Given the description of an element on the screen output the (x, y) to click on. 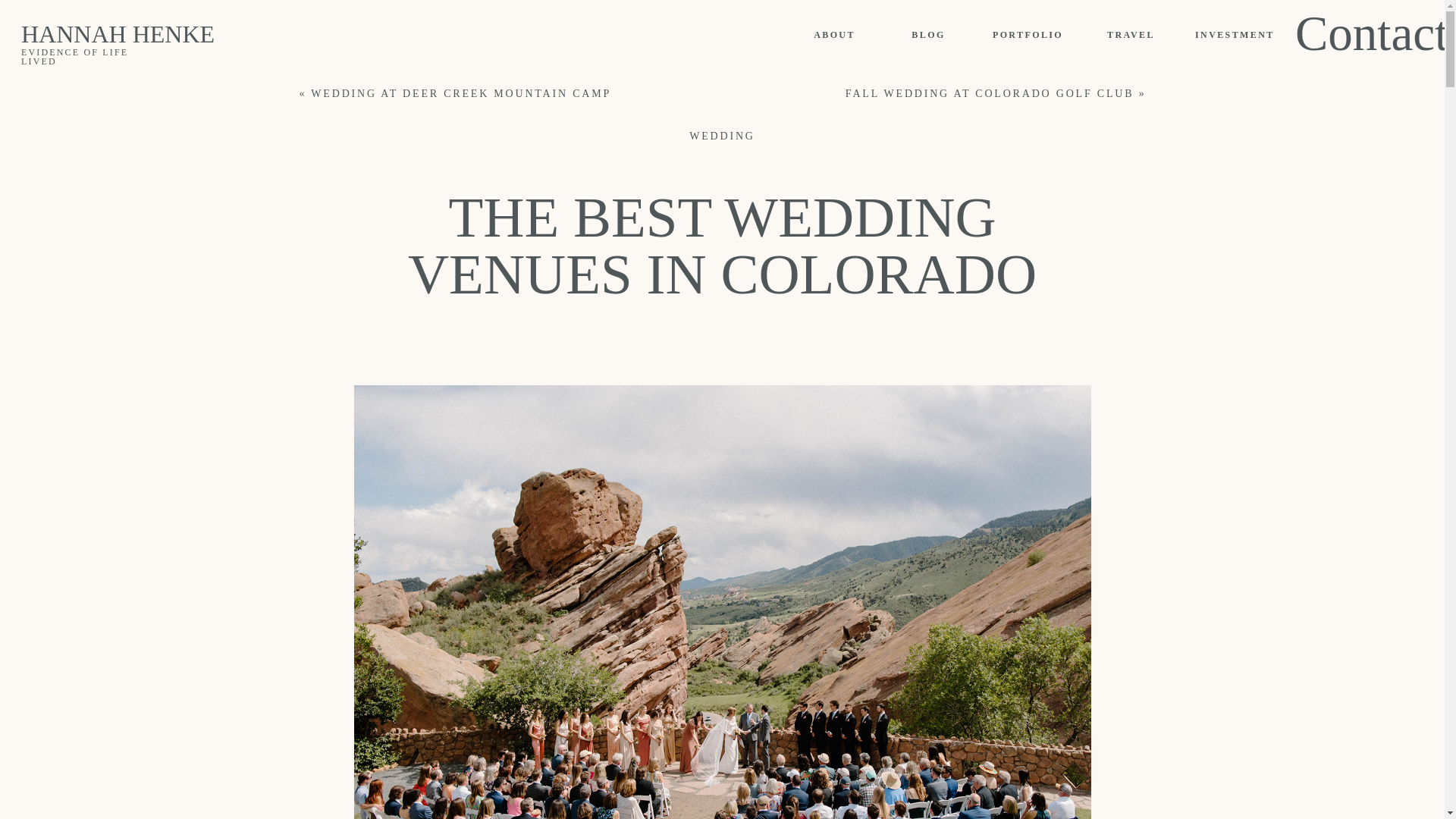
BLOG (927, 34)
HANNAH HENKE (150, 40)
FALL WEDDING AT COLORADO GOLF CLUB (989, 93)
Contact (1336, 31)
INVESTMENT (1233, 34)
WEDDING AT DEER CREEK MOUNTAIN CAMP (461, 93)
TRAVEL (1131, 34)
PORTFOLIO (1027, 34)
WEDDING (721, 135)
ABOUT (834, 34)
